Given the description of an element on the screen output the (x, y) to click on. 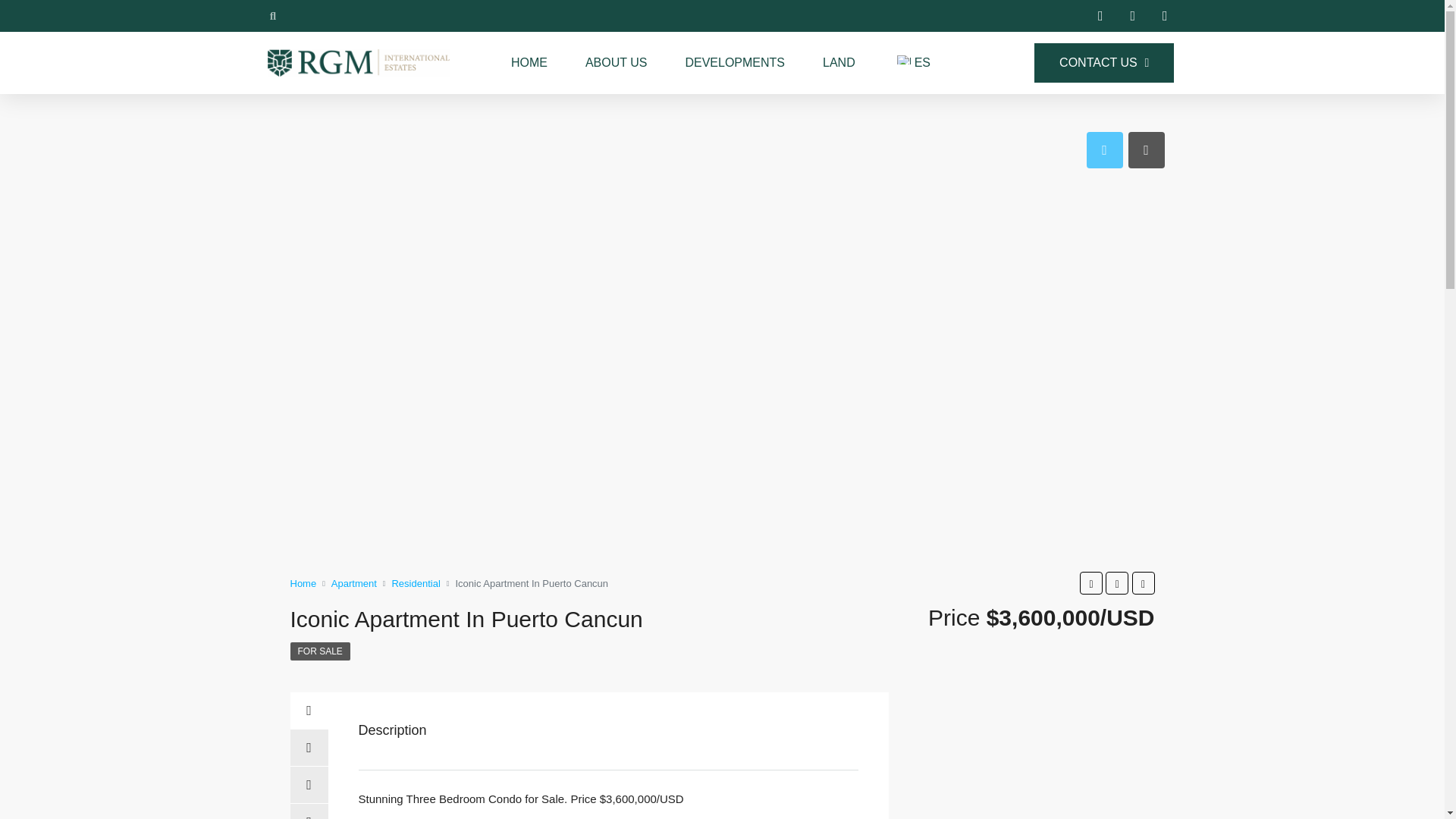
ES (911, 62)
HOME (529, 62)
LAND (839, 62)
ABOUT US (616, 62)
DEVELOPMENTS (734, 62)
